Given the description of an element on the screen output the (x, y) to click on. 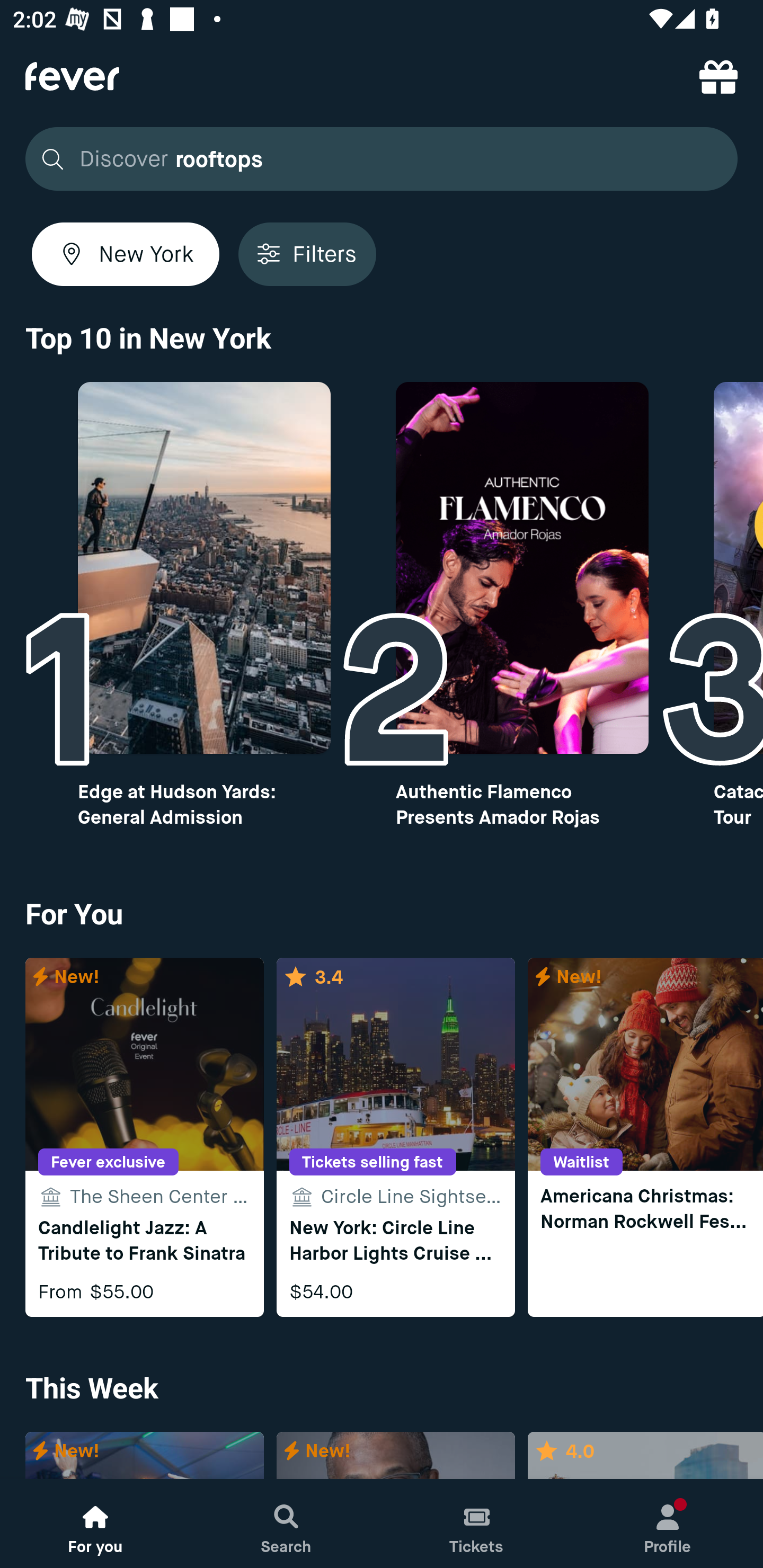
referral (718, 75)
Discover rooftops (381, 158)
Discover rooftops (376, 158)
New York (125, 253)
Filters (307, 253)
Top10 image (203, 568)
Top10 image (521, 568)
Search (285, 1523)
Tickets (476, 1523)
Profile, New notification Profile (667, 1523)
